Given the description of an element on the screen output the (x, y) to click on. 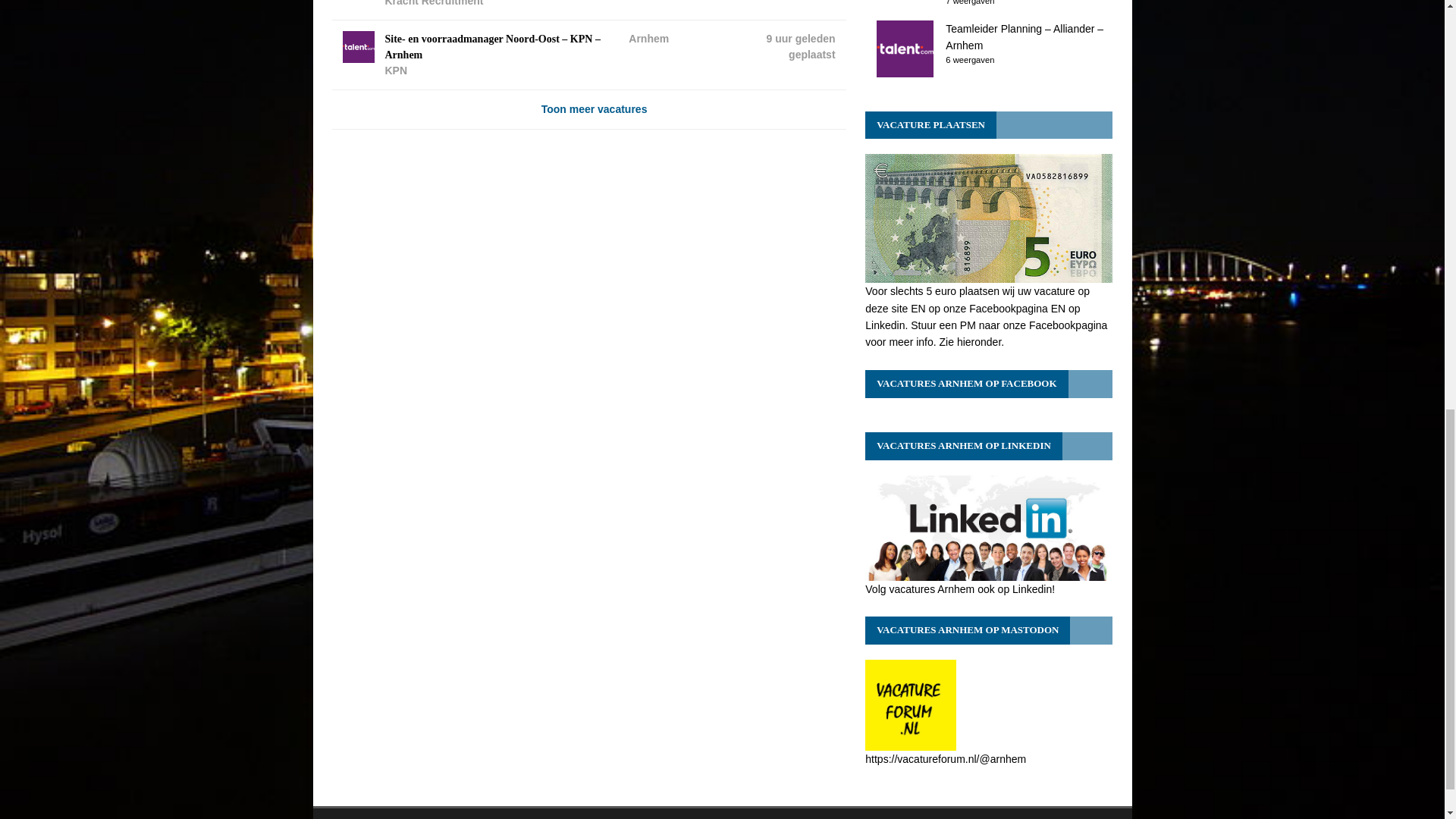
Toon meer vacatures (588, 109)
